Given the description of an element on the screen output the (x, y) to click on. 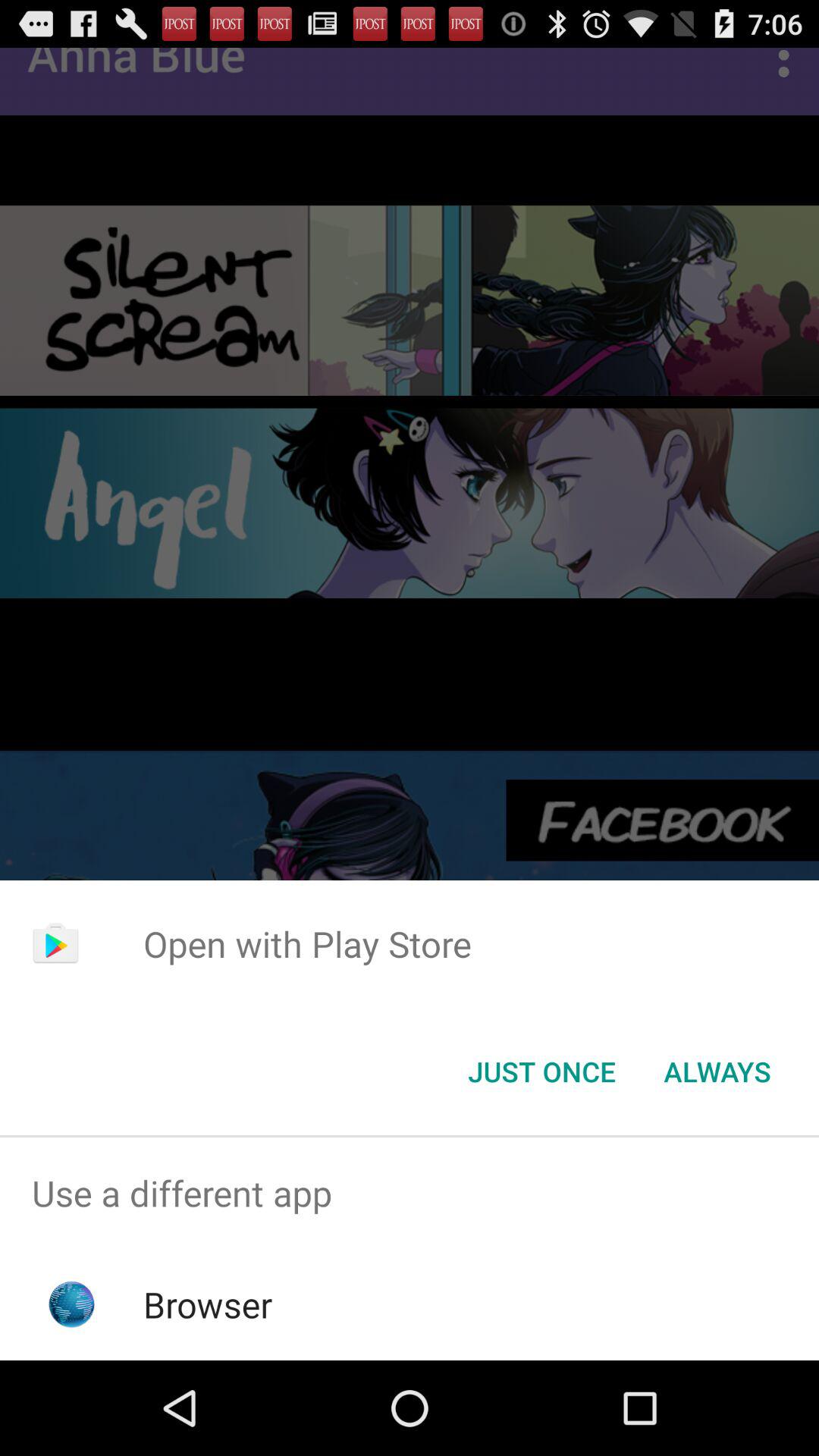
flip to the use a different app (409, 1192)
